Given the description of an element on the screen output the (x, y) to click on. 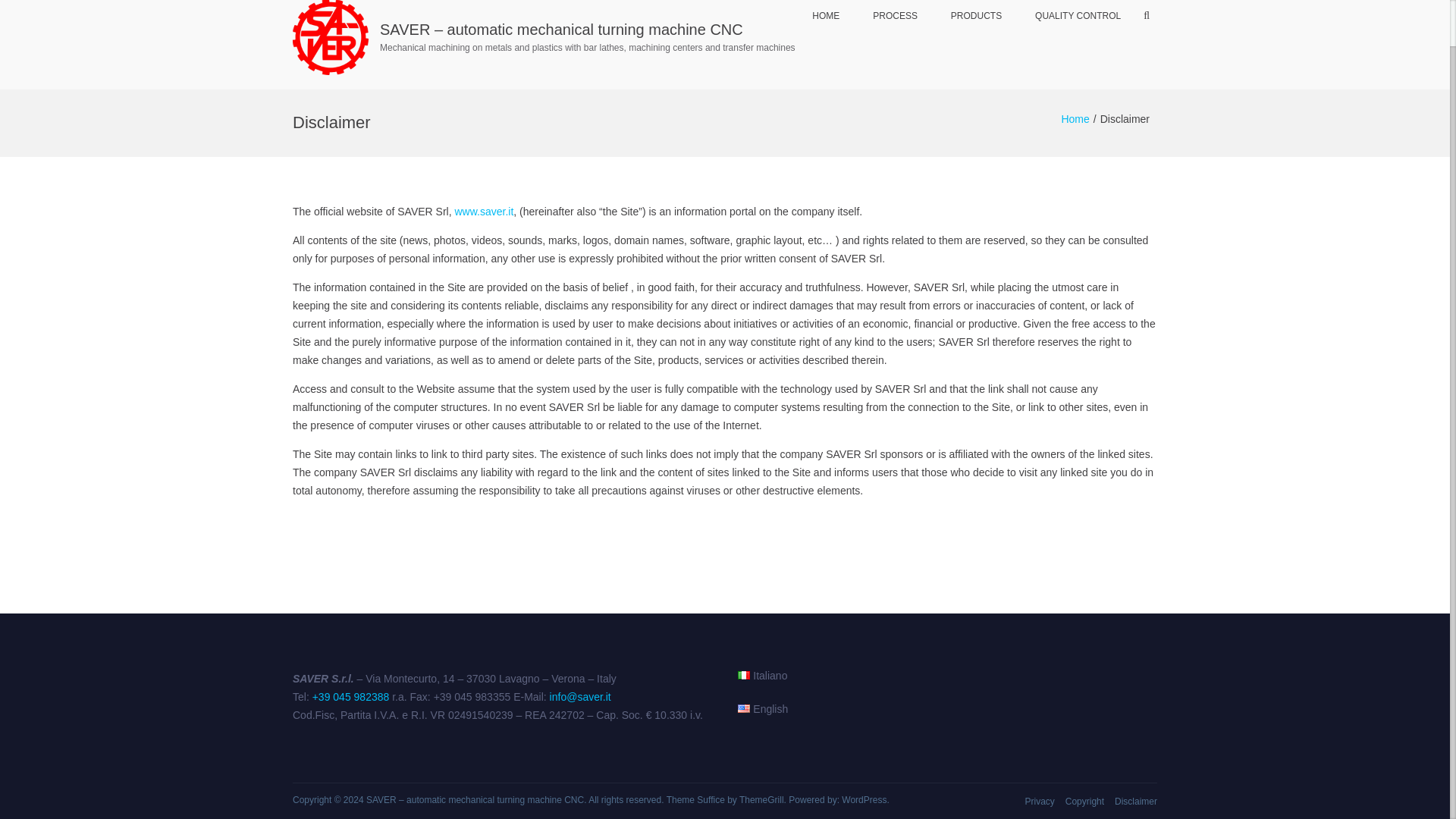
Home (1075, 119)
Copyright (1084, 801)
Privacy (1039, 801)
PRODUCTS (976, 22)
WordPress (863, 799)
Suffice (710, 799)
Disclaimer (1136, 801)
HOME (825, 22)
Suffice (710, 799)
QUALITY CONTROL (1077, 22)
